Given the description of an element on the screen output the (x, y) to click on. 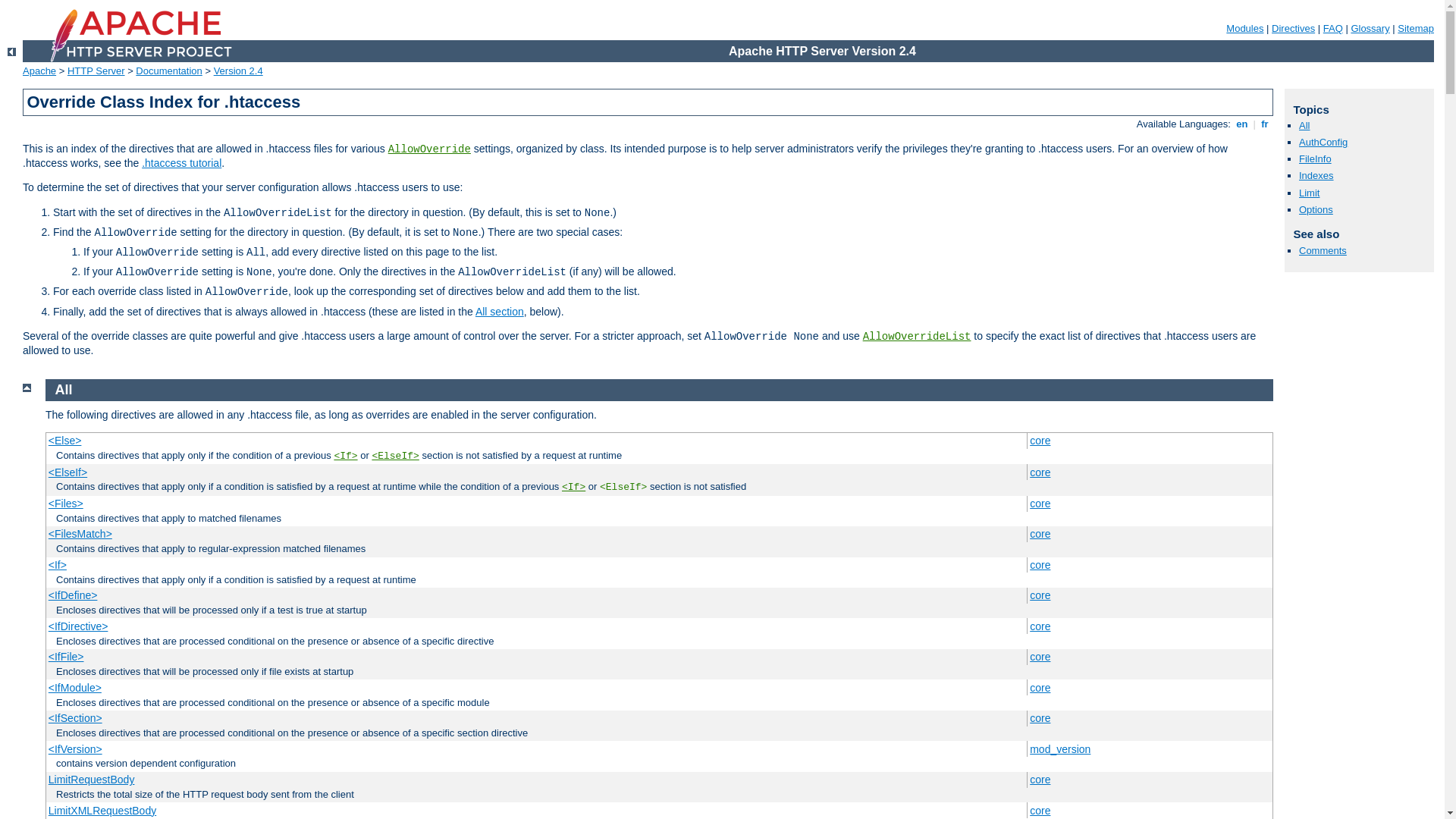
LimitXMLRequestBody Element type: text (102, 810)
AllowOverrideList Element type: text (916, 336)
<If> Element type: text (573, 486)
<Else> Element type: text (64, 440)
All Element type: text (1304, 125)
core Element type: text (1039, 440)
<If> Element type: text (345, 455)
<IfDirective> Element type: text (78, 626)
.htaccess tutorial Element type: text (181, 162)
<IfModule> Element type: text (74, 687)
core Element type: text (1039, 779)
Indexes Element type: text (1316, 175)
<If> Element type: text (57, 564)
AllowOverride Element type: text (429, 149)
core Element type: text (1039, 656)
Version 2.4 Element type: text (238, 70)
<- Element type: hover (11, 51)
 en  Element type: text (1241, 123)
Limit Element type: text (1309, 191)
<Files> Element type: text (65, 503)
<IfDefine> Element type: text (72, 595)
core Element type: text (1039, 626)
core Element type: text (1039, 595)
core Element type: text (1039, 503)
All Element type: text (63, 389)
All section Element type: text (499, 311)
core Element type: text (1039, 718)
FileInfo Element type: text (1315, 158)
Directives Element type: text (1292, 28)
AuthConfig Element type: text (1323, 141)
<ElseIf> Element type: text (394, 455)
LimitRequestBody Element type: text (91, 779)
core Element type: text (1039, 810)
core Element type: text (1039, 533)
<IfFile> Element type: text (66, 656)
core Element type: text (1039, 472)
Apache Element type: text (39, 70)
<IfSection> Element type: text (75, 718)
mod_version Element type: text (1059, 749)
<ElseIf> Element type: text (67, 472)
Comments Element type: text (1322, 250)
<IfVersion> Element type: text (75, 749)
Modules Element type: text (1244, 28)
FAQ Element type: text (1333, 28)
Documentation Element type: text (168, 70)
Glossary Element type: text (1369, 28)
<FilesMatch> Element type: text (80, 533)
core Element type: text (1039, 687)
Sitemap Element type: text (1415, 28)
core Element type: text (1039, 564)
Options Element type: text (1316, 209)
 fr  Element type: text (1264, 123)
HTTP Server Element type: text (96, 70)
